Given the description of an element on the screen output the (x, y) to click on. 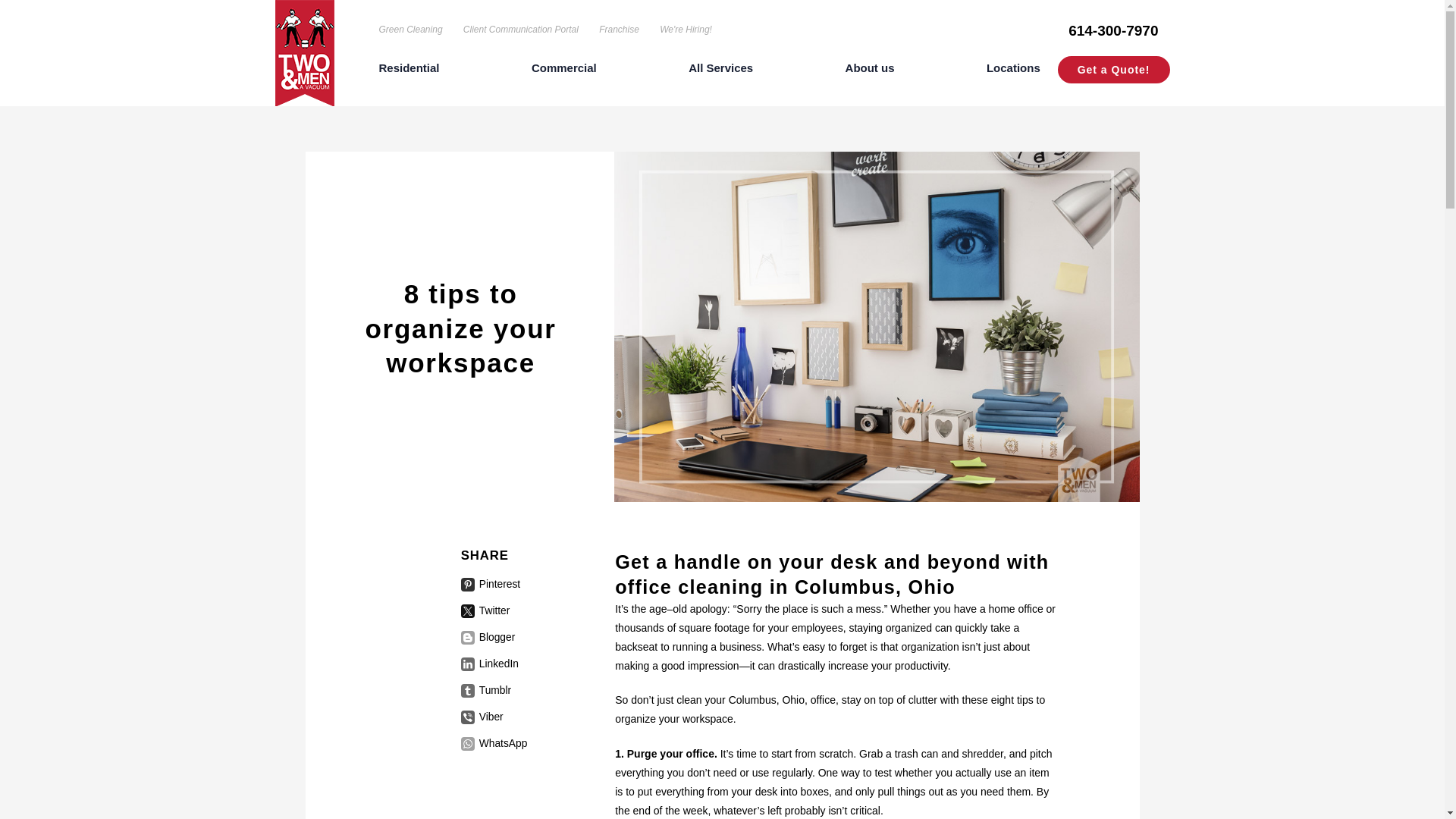
LinkedIn (492, 663)
Tumblr (492, 690)
Blogger (492, 637)
WhatsApp (494, 744)
All Services (720, 70)
Viber (492, 716)
Franchise (618, 29)
Twitter (492, 611)
About us (870, 70)
Green Cleaning (410, 29)
Residential (408, 70)
We're Hiring! (685, 29)
Commercial (563, 70)
Pinterest (492, 584)
Client Communication Portal (520, 29)
